Given the description of an element on the screen output the (x, y) to click on. 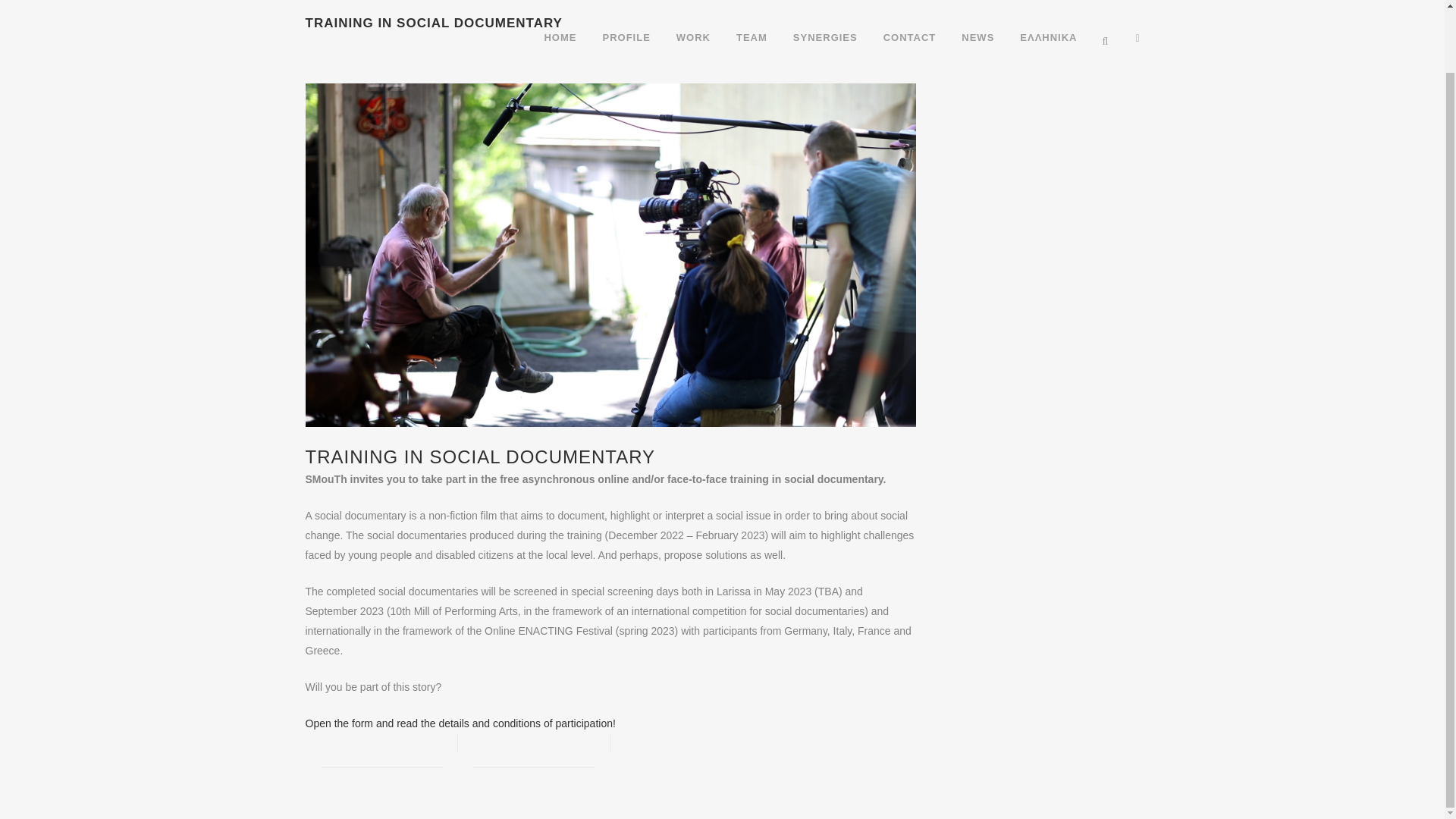
Labrouli's creative (777, 729)
NEWS (978, 3)
WORK (693, 3)
CONTACT (909, 3)
PROFILE (625, 3)
SYNERGIES (825, 3)
TEAM (751, 3)
HOME (560, 3)
